Given the description of an element on the screen output the (x, y) to click on. 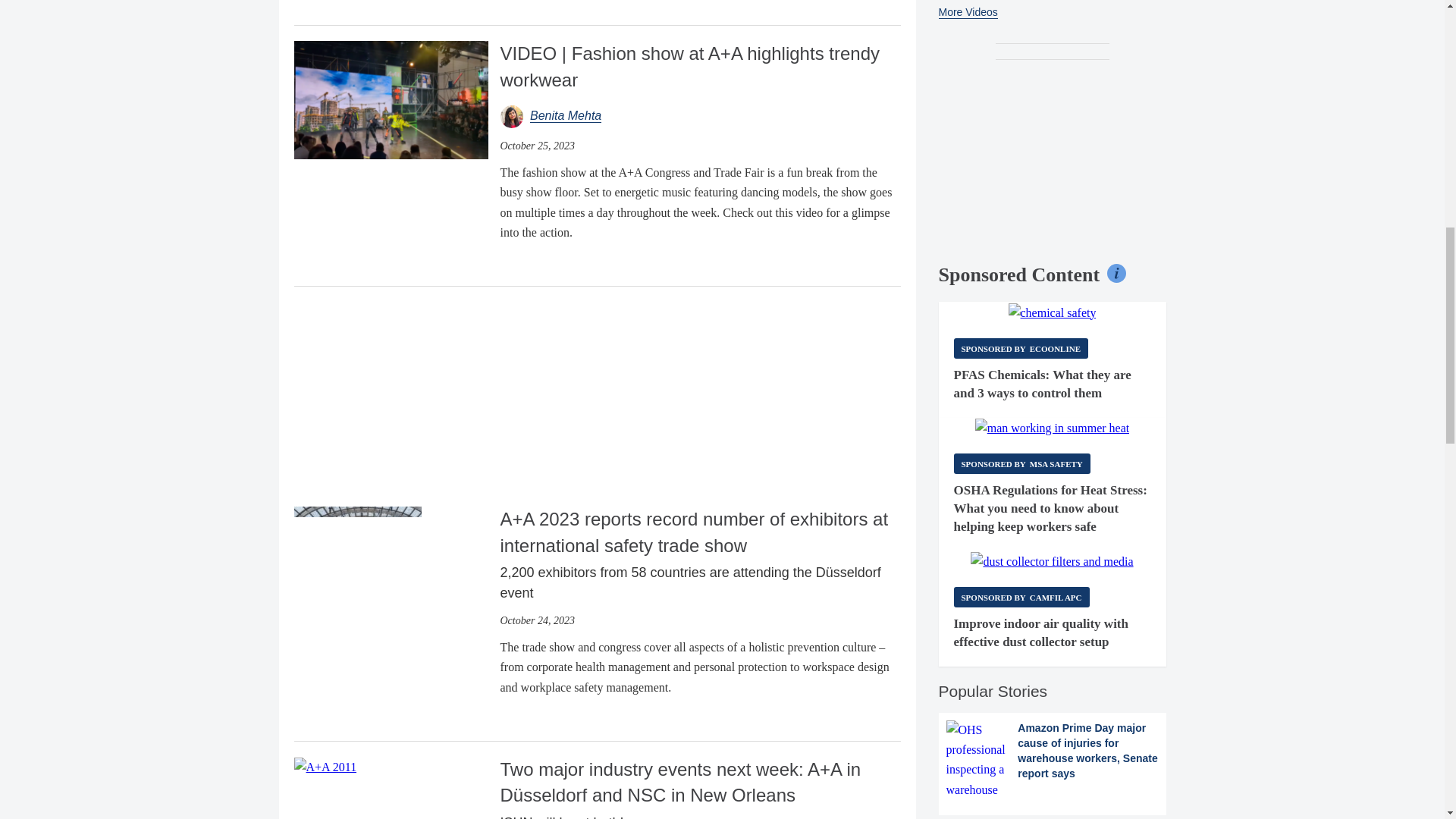
AplusA welcome.jpg (358, 569)
AplusA11-422.jpg (325, 767)
